Given the description of an element on the screen output the (x, y) to click on. 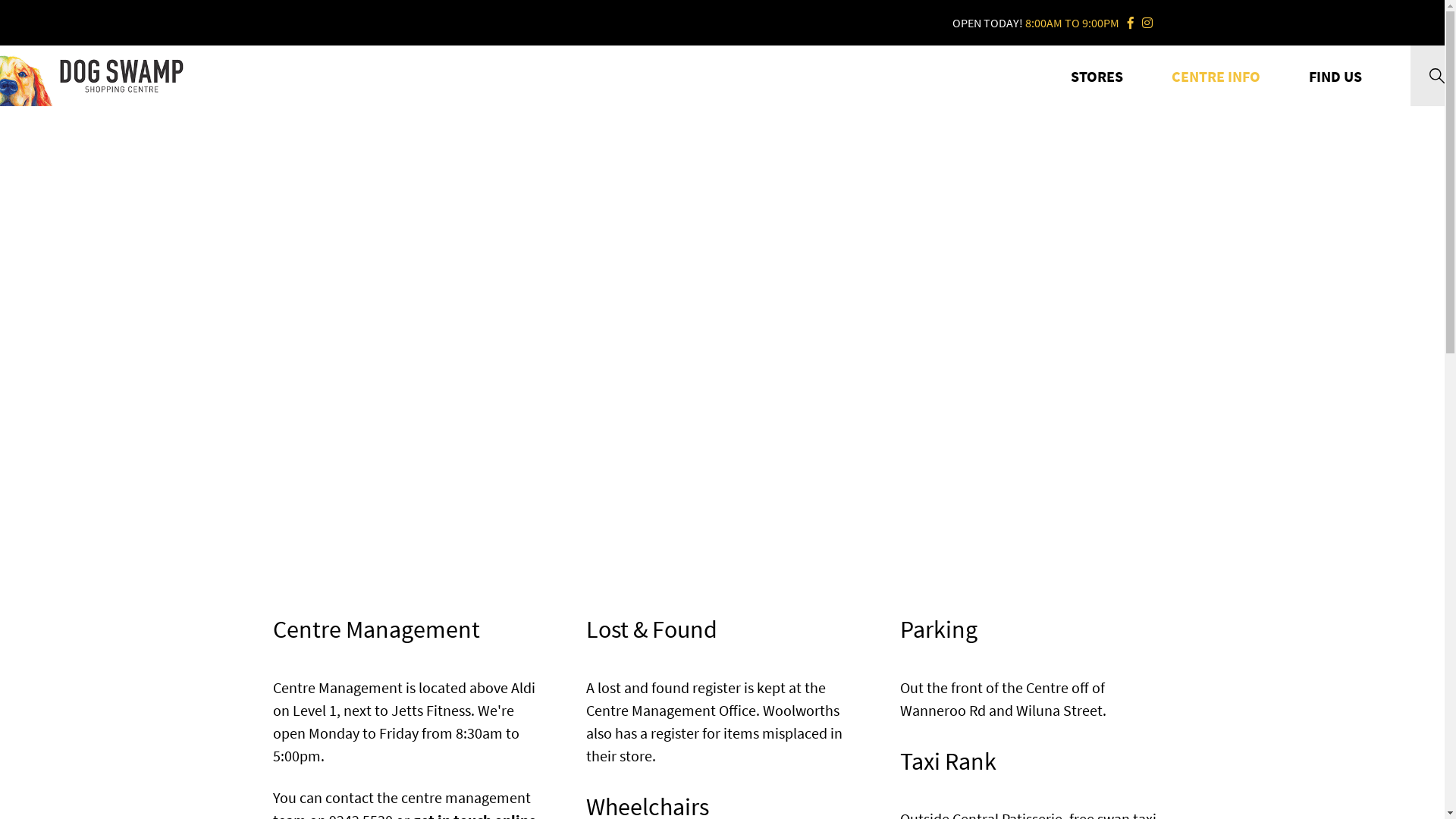
STORES Element type: text (1096, 75)
CENTRE INFO Element type: text (1215, 75)
FIND US Element type: text (1334, 75)
